Given the description of an element on the screen output the (x, y) to click on. 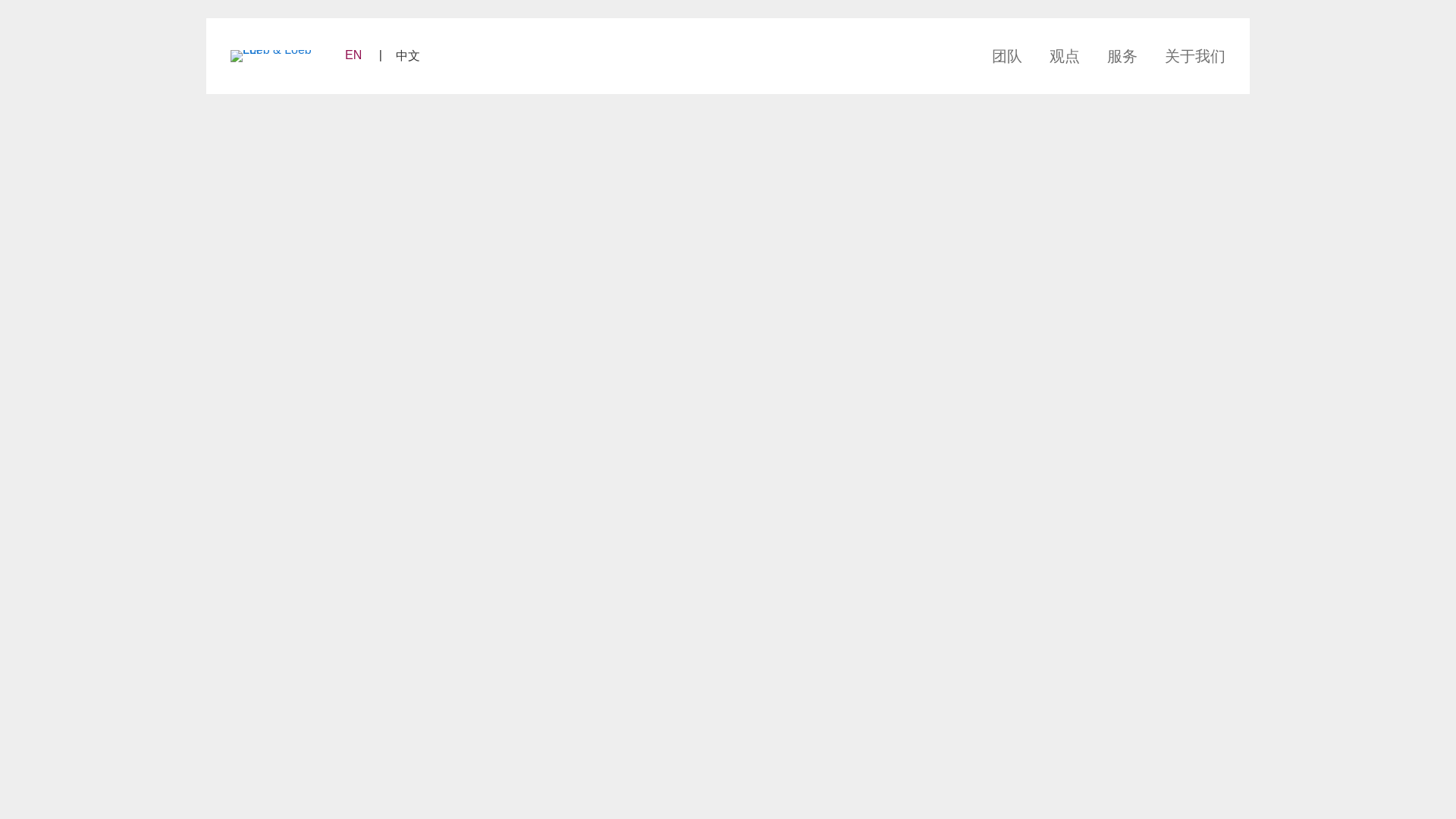
EN (360, 54)
